Given the description of an element on the screen output the (x, y) to click on. 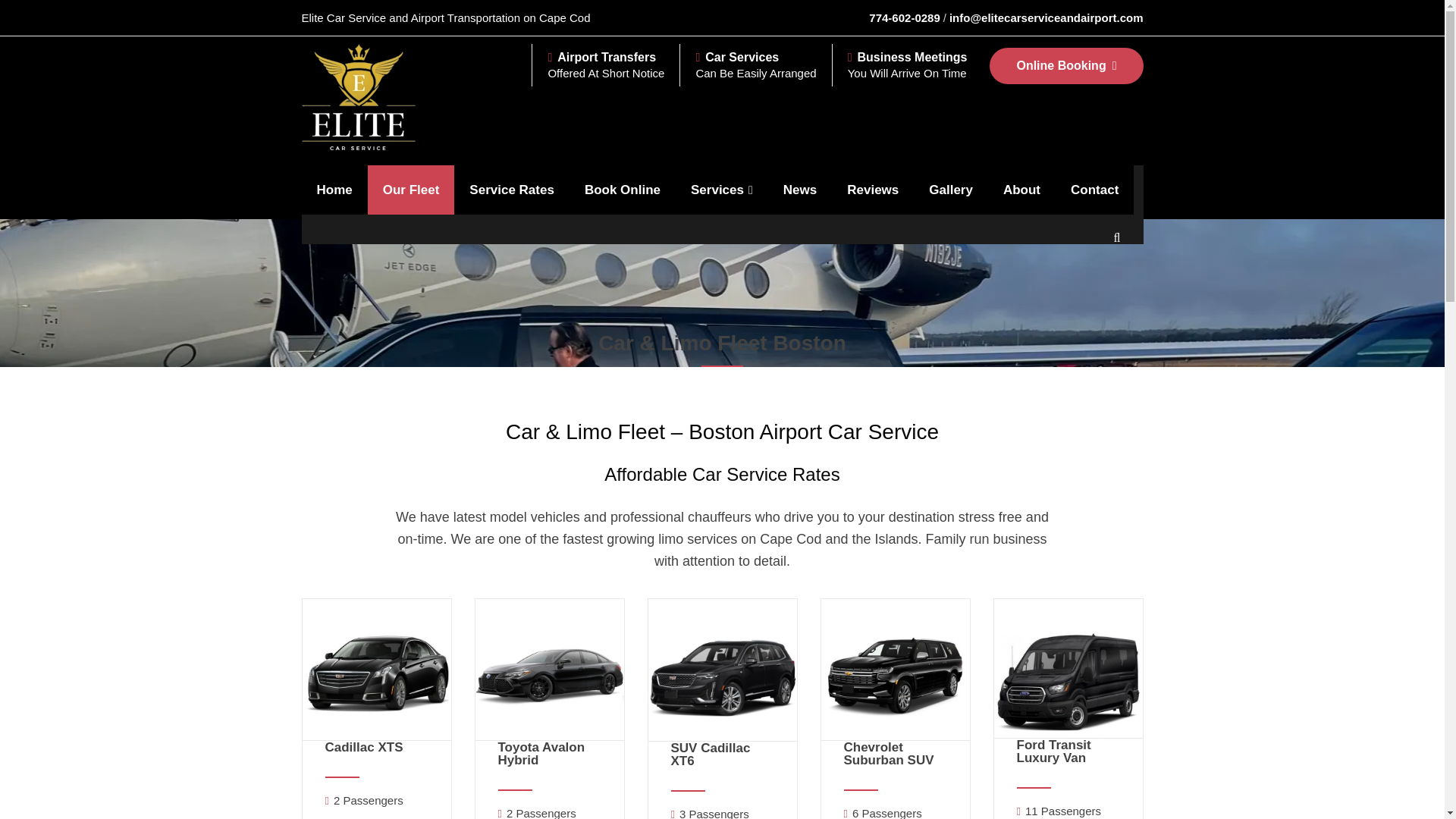
Services (721, 189)
Home (334, 189)
Ford Transit Luxury Van (1053, 750)
Contact (1094, 189)
774-602-0289 (904, 17)
Service Rates (511, 189)
Home (649, 383)
Cadillac XTS (363, 747)
About (1021, 189)
Chevrolet Suburban SUV (888, 753)
Gallery (951, 189)
Cadillac XTS (375, 771)
Online Booking (1066, 65)
Book Online (622, 189)
Cadillac XTS (363, 747)
